Given the description of an element on the screen output the (x, y) to click on. 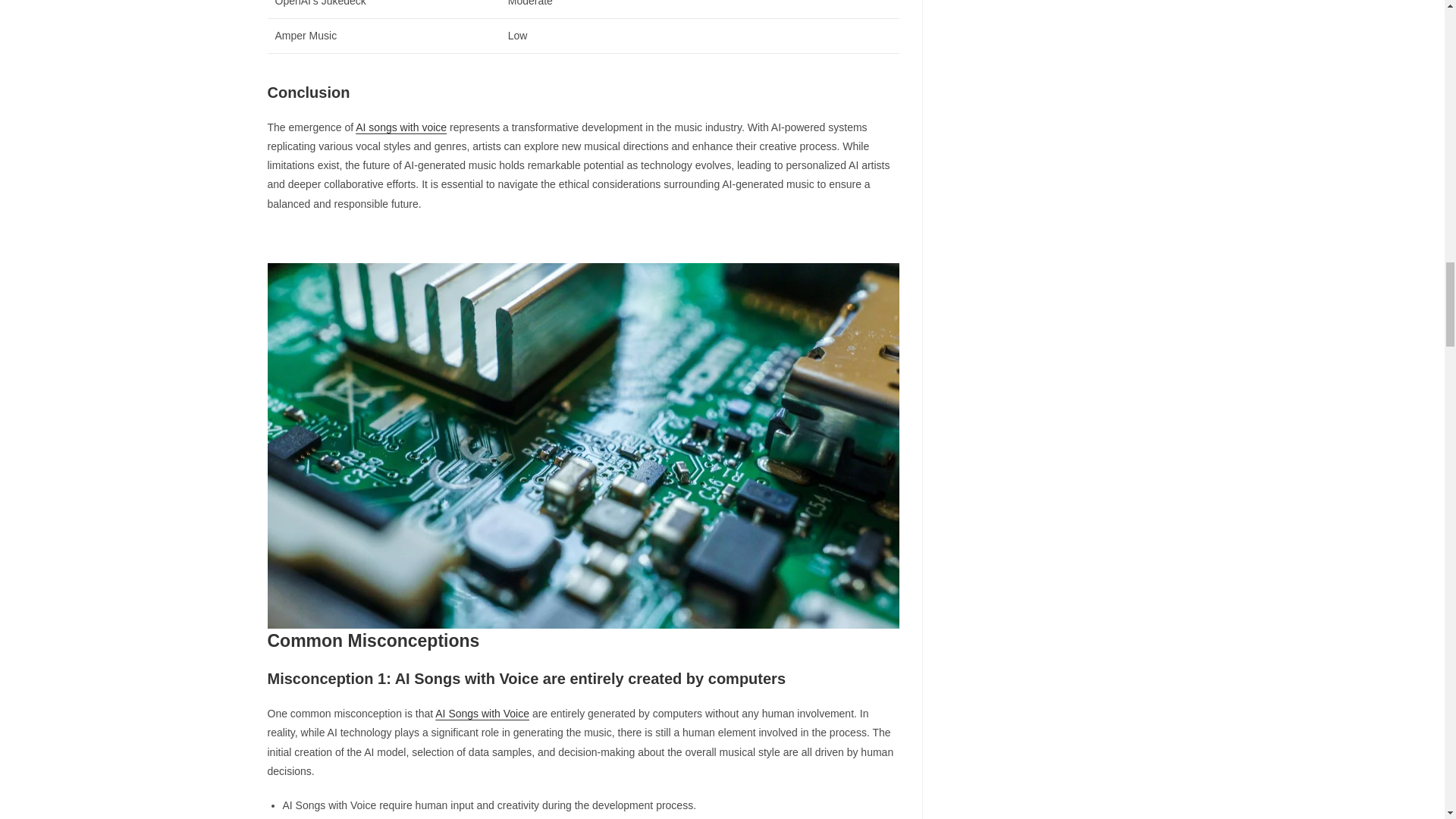
AI Songs with Voice (482, 713)
AI songs with voice (400, 127)
